Given the description of an element on the screen output the (x, y) to click on. 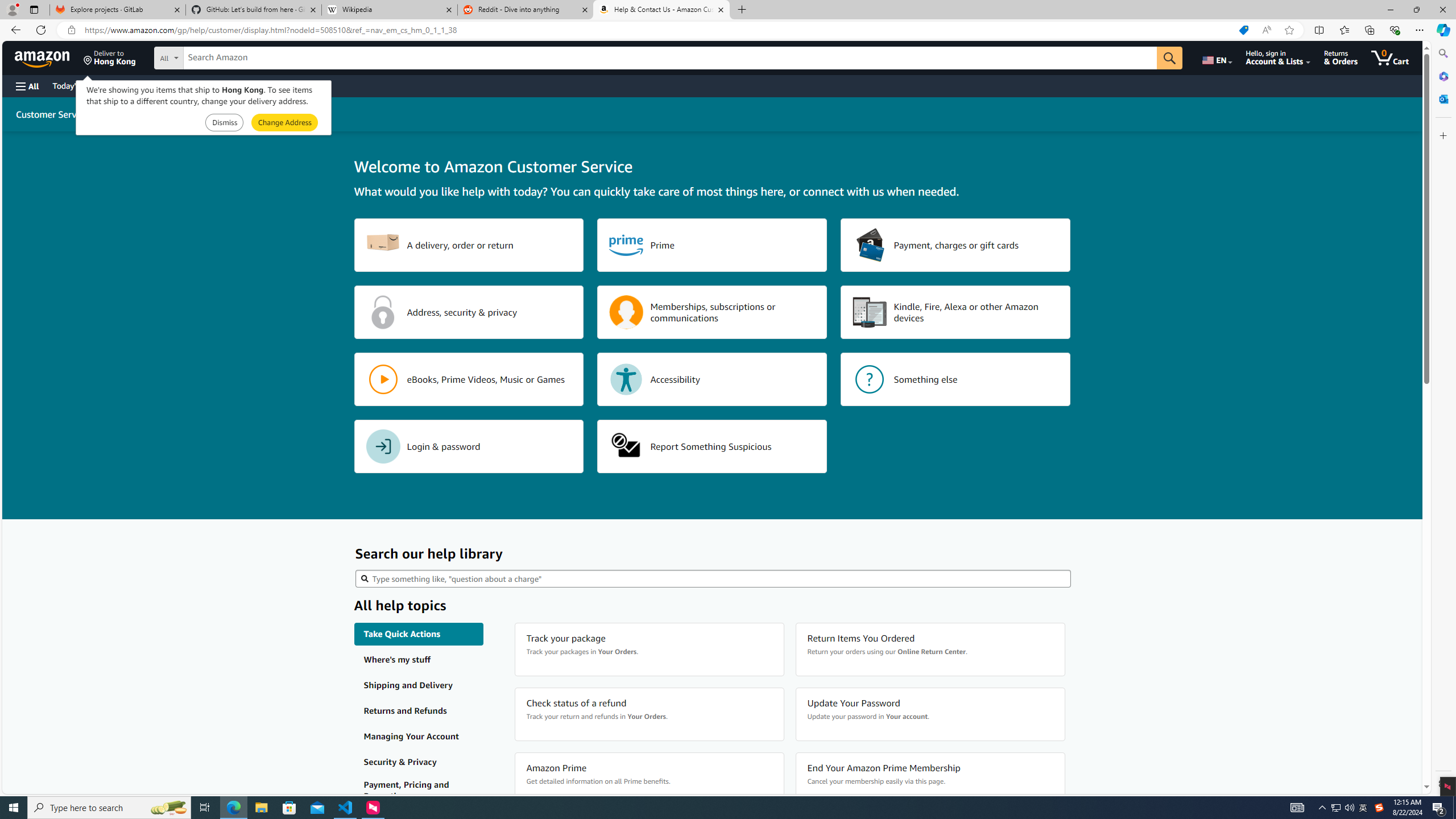
A delivery, order or return (468, 244)
Submit (284, 122)
eBooks, Prime Videos, Music or Games (468, 379)
Hello, sign in Account & Lists (1278, 57)
Amazon (43, 57)
Login & password (468, 446)
Search in (210, 56)
Help & Contact Us - Amazon Customer Service (660, 9)
Returns & Orders (1340, 57)
Shopping in Microsoft Edge (1243, 29)
